Given the description of an element on the screen output the (x, y) to click on. 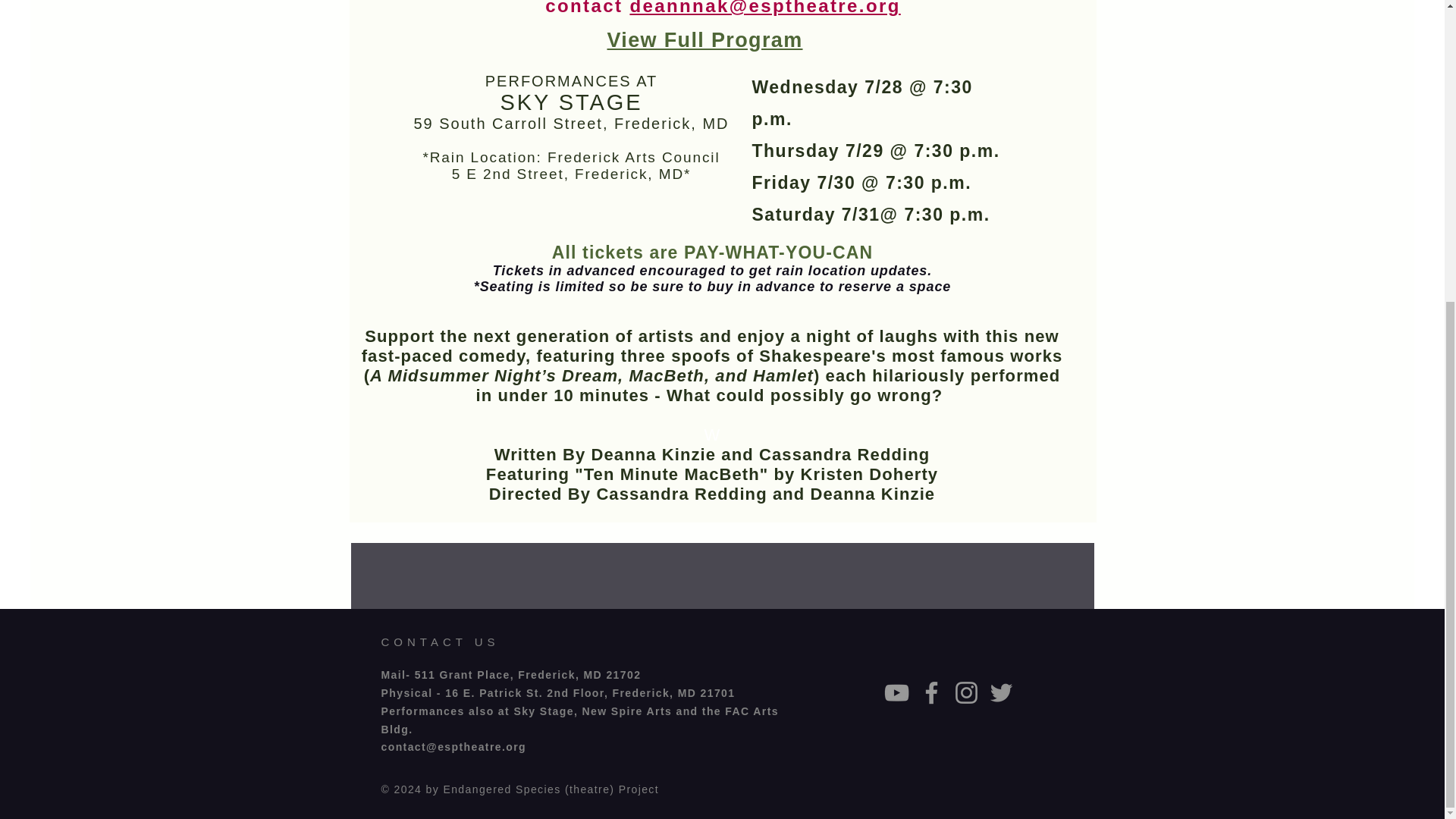
View Full Program (704, 39)
